Given the description of an element on the screen output the (x, y) to click on. 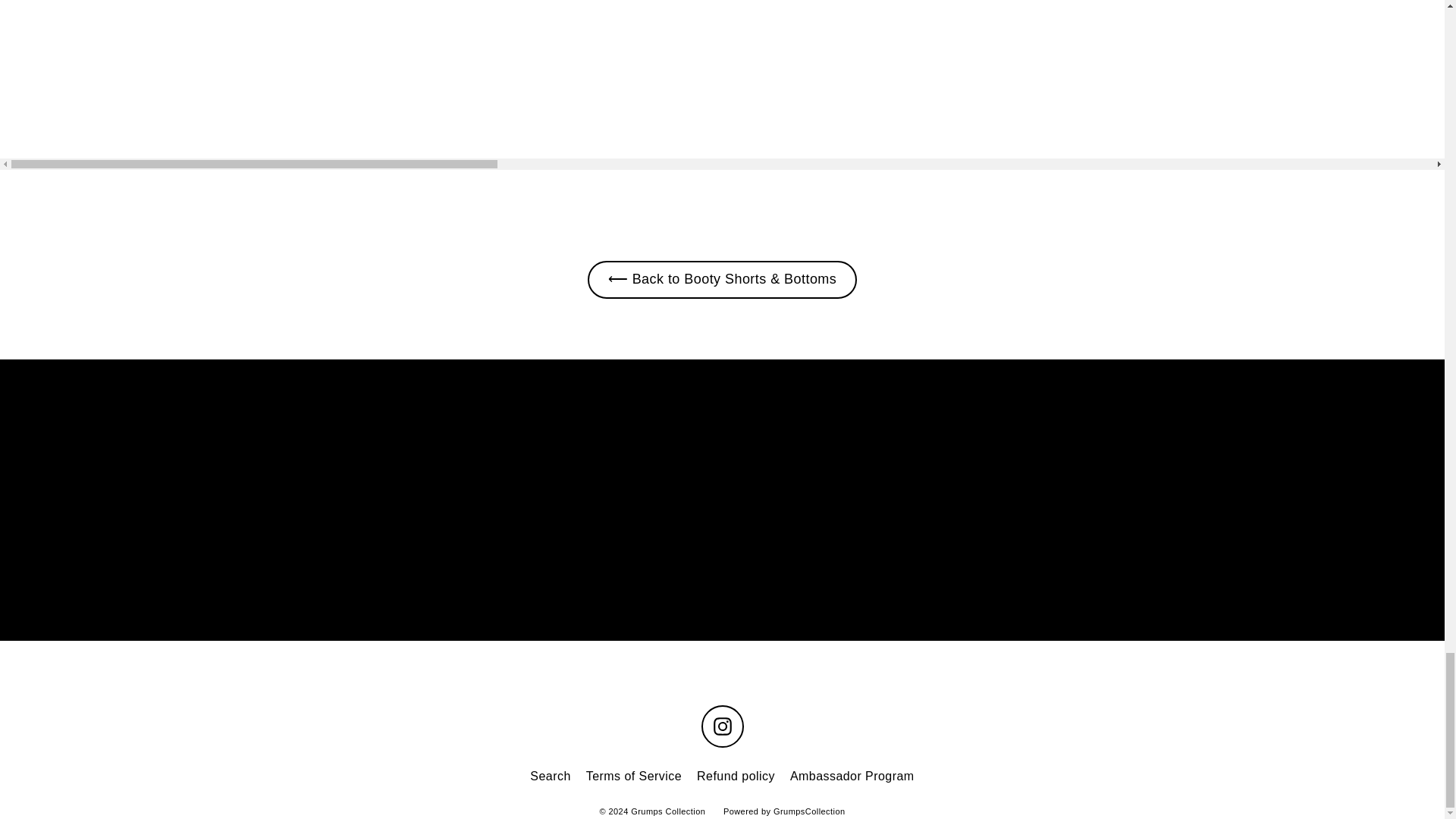
Grumps Collection on Instagram (721, 726)
